Given the description of an element on the screen output the (x, y) to click on. 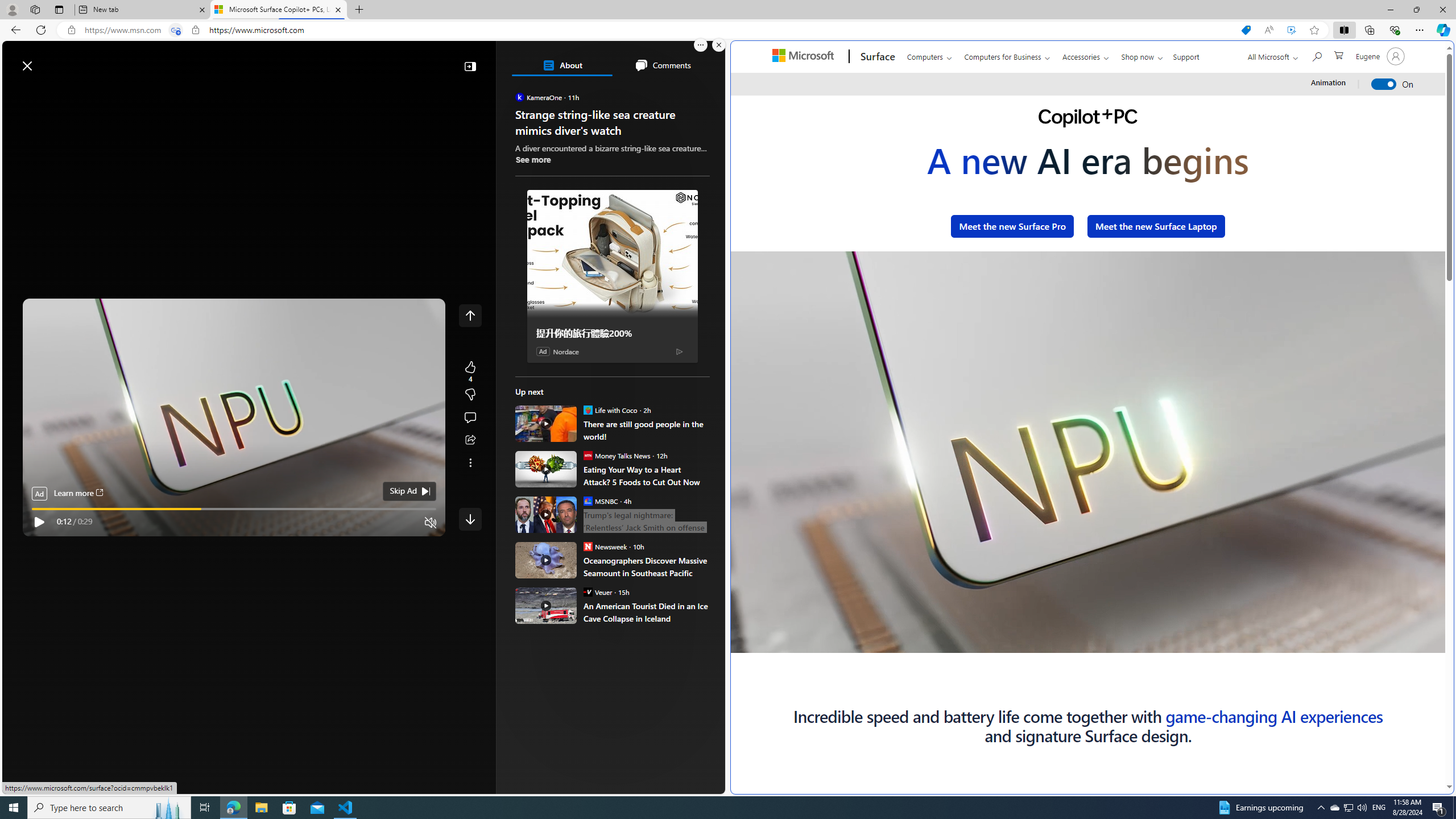
Money Talks News (587, 455)
Life with Coco Life with Coco (609, 409)
Enhance video (1291, 29)
Surface (876, 56)
More options. (700, 45)
MSNBC (587, 500)
